Given the description of an element on the screen output the (x, y) to click on. 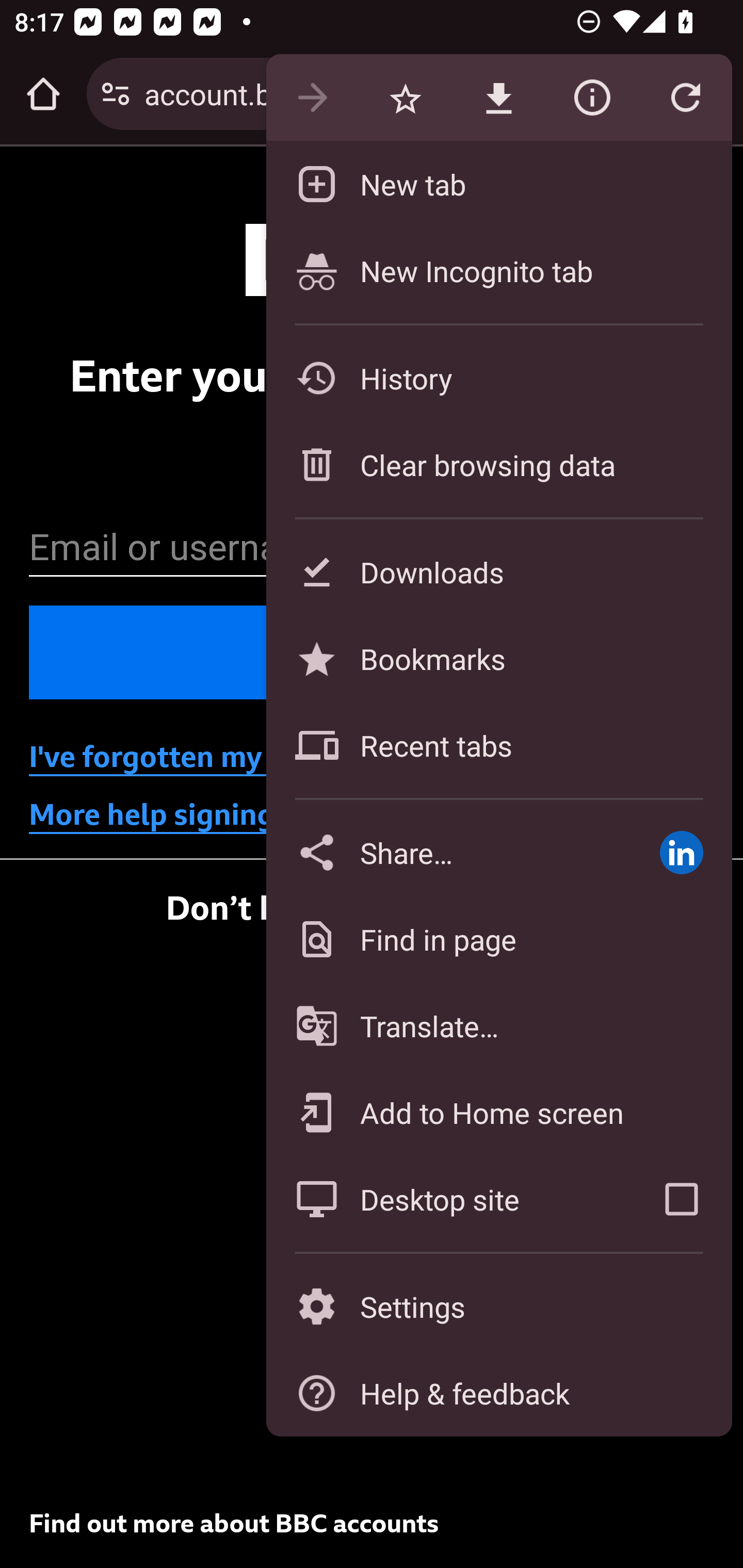
Forward (311, 97)
Bookmark (404, 97)
Download (498, 97)
Page info (591, 97)
Refresh (684, 97)
New tab (498, 184)
New Incognito tab (498, 270)
History (498, 377)
Clear browsing data (498, 464)
Downloads (498, 571)
Bookmarks (498, 658)
Recent tabs (498, 745)
Share… (447, 852)
Share via Share in a post (680, 852)
Find in page (498, 939)
Translate… (498, 1026)
Add to Home screen (498, 1112)
Desktop site Turn on Request desktop site (447, 1198)
Settings (498, 1306)
Help & feedback (498, 1393)
